Given the description of an element on the screen output the (x, y) to click on. 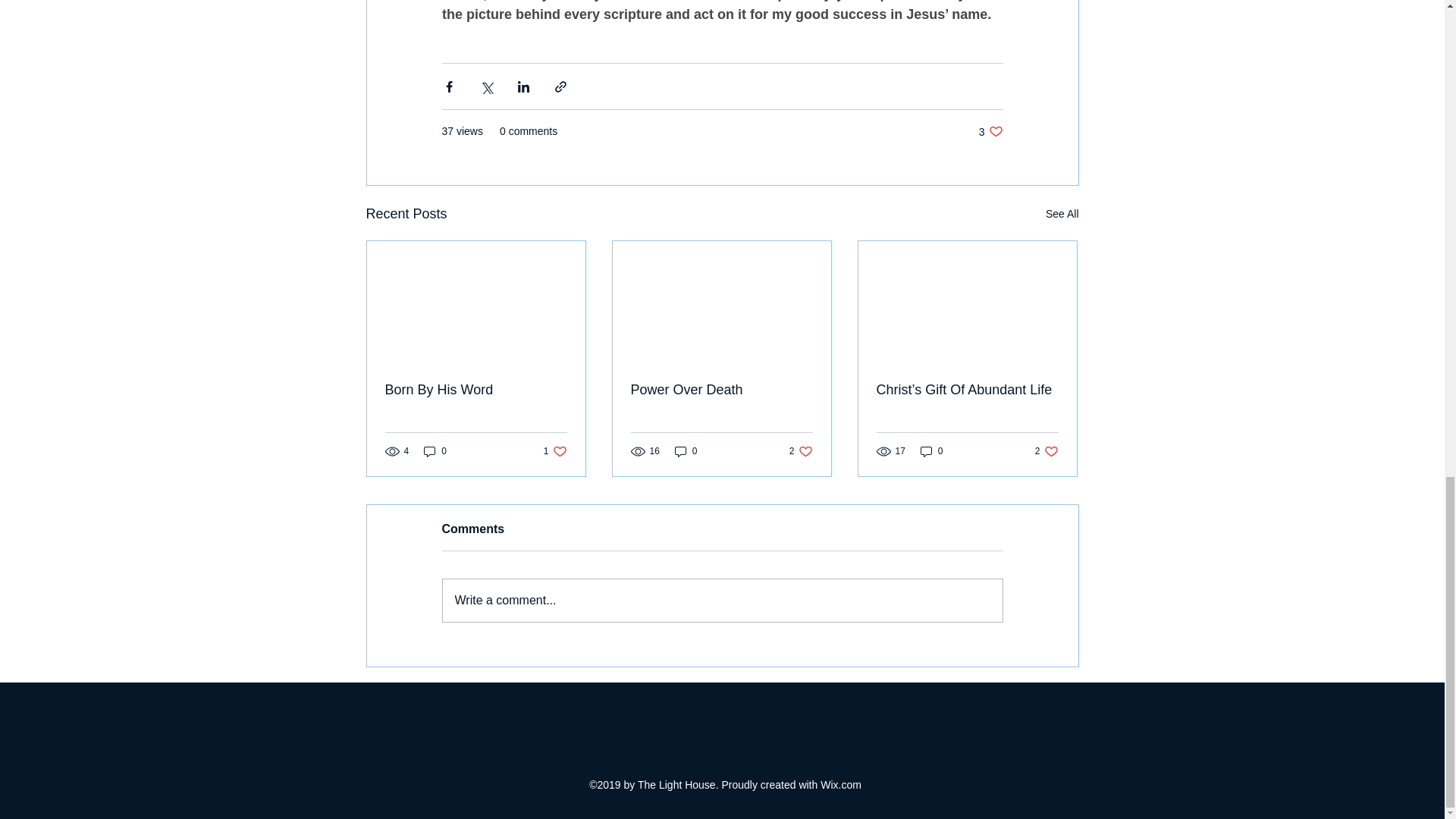
Power Over Death (555, 451)
0 (990, 131)
0 (721, 390)
Born By His Word (931, 451)
0 (685, 451)
See All (1046, 451)
Write a comment... (476, 390)
